Given the description of an element on the screen output the (x, y) to click on. 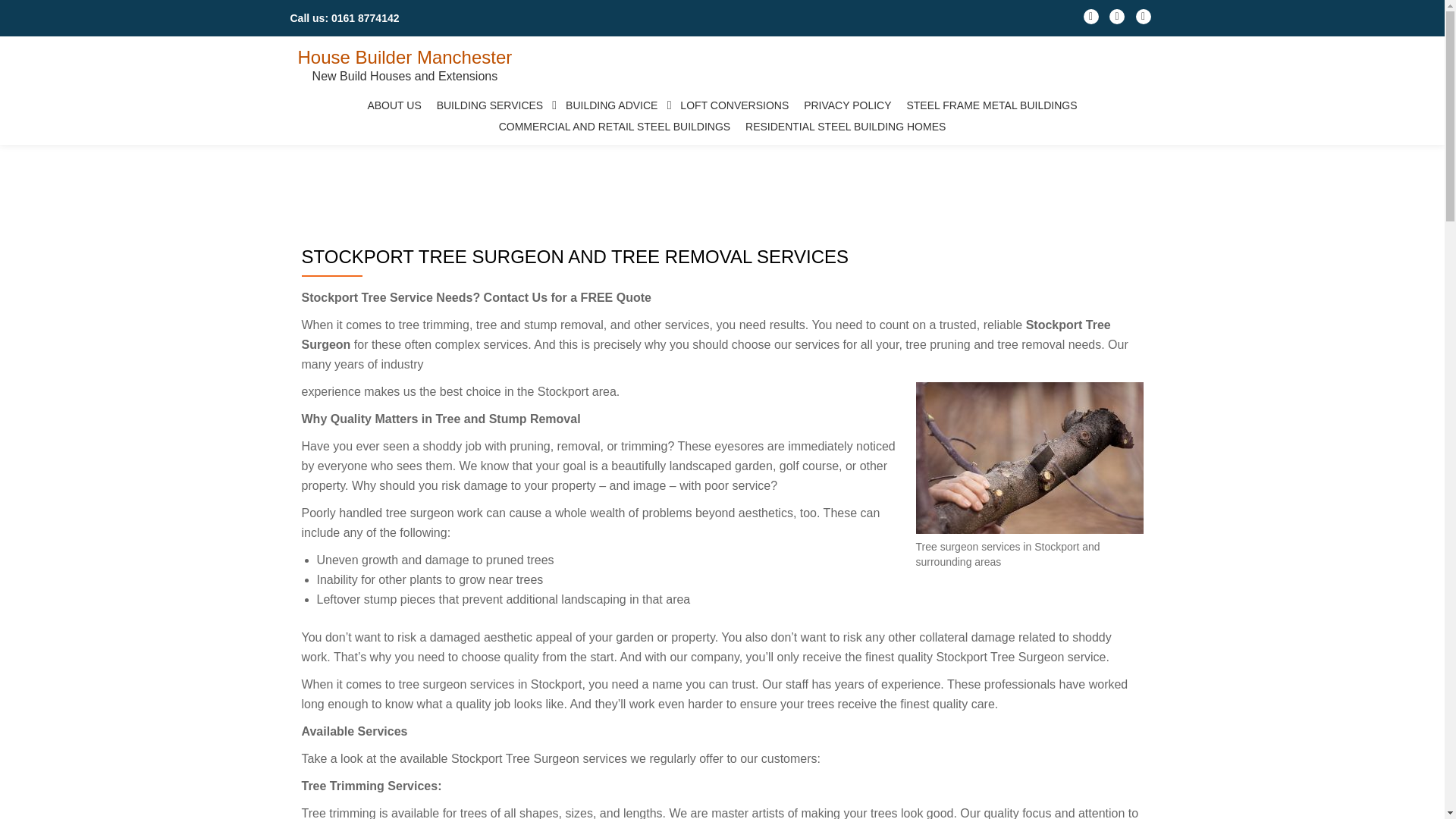
House Builder Manchester (404, 56)
ABOUT US (393, 105)
BUILDING SERVICES (493, 105)
fa-facebook (1091, 19)
BUILDING ADVICE (615, 105)
fa-google-plus-square (1143, 19)
fa-twitter (1116, 19)
House Builder Manchester (404, 56)
